Given the description of an element on the screen output the (x, y) to click on. 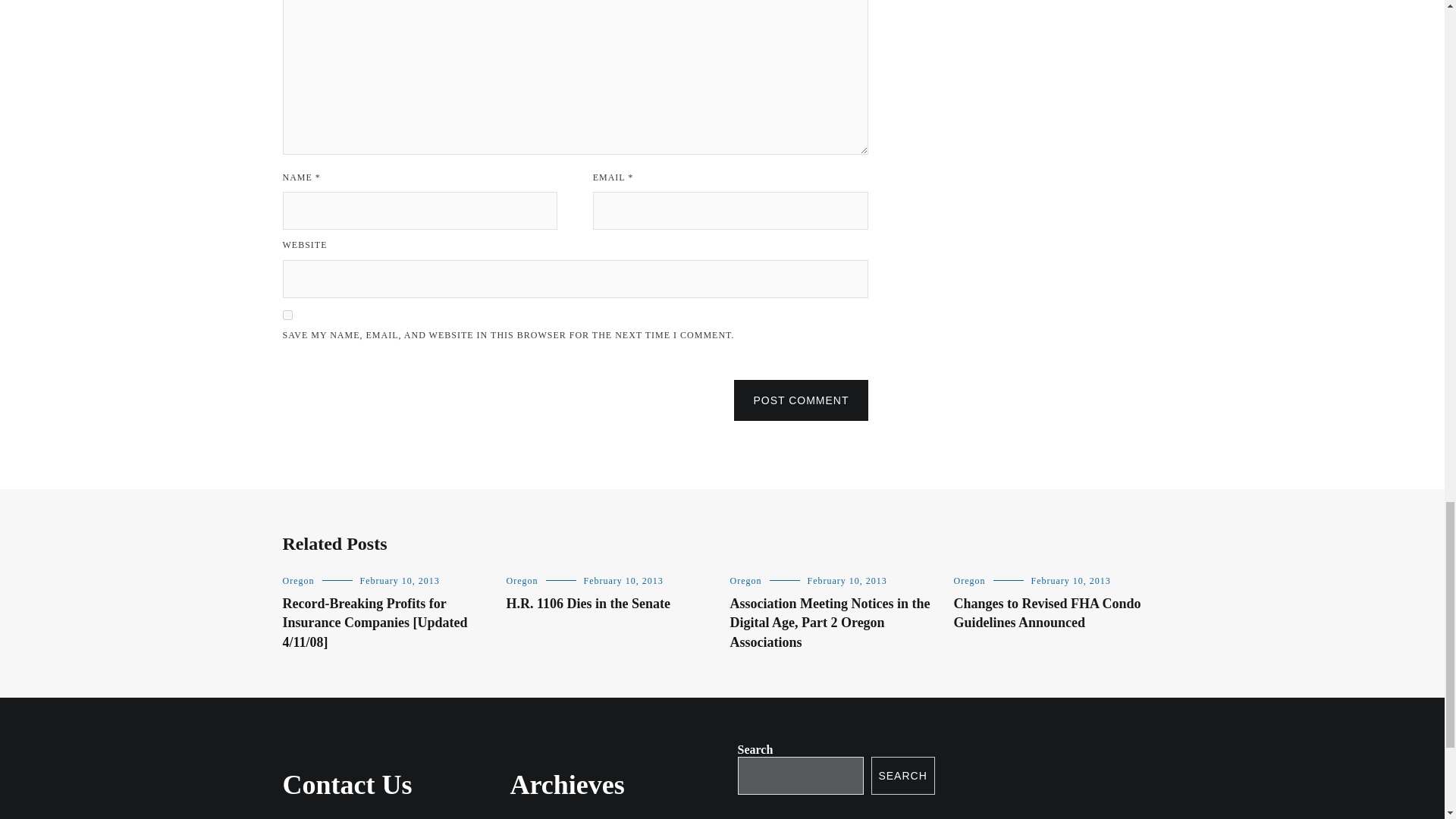
Oregon (522, 580)
Oregon (745, 580)
H.R. 1106 Dies in the Senate (588, 603)
yes (287, 315)
POST COMMENT (800, 400)
February 10, 2013 (623, 580)
February 10, 2013 (399, 580)
Oregon (298, 580)
